Given the description of an element on the screen output the (x, y) to click on. 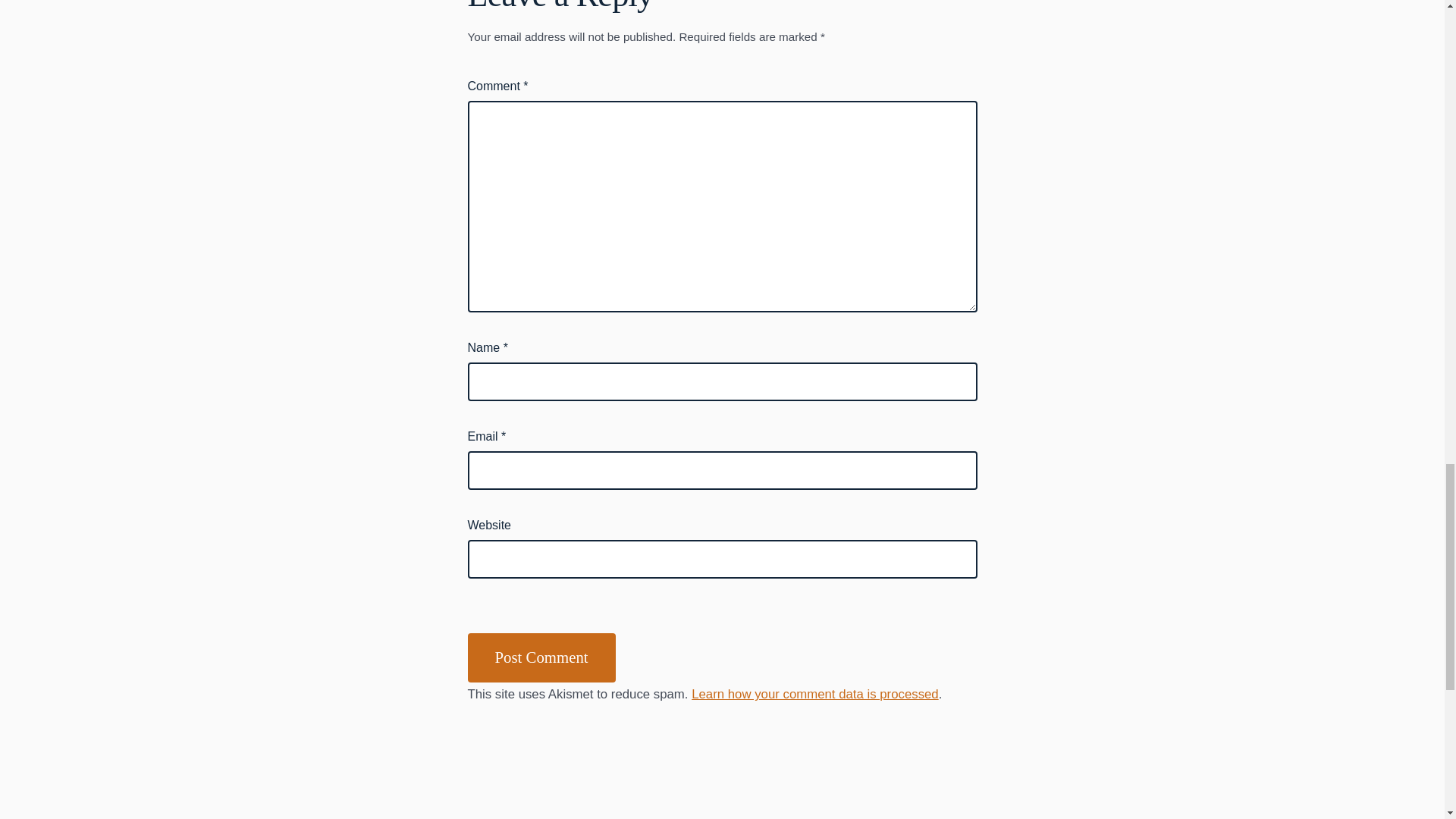
Post Comment (540, 658)
